Given the description of an element on the screen output the (x, y) to click on. 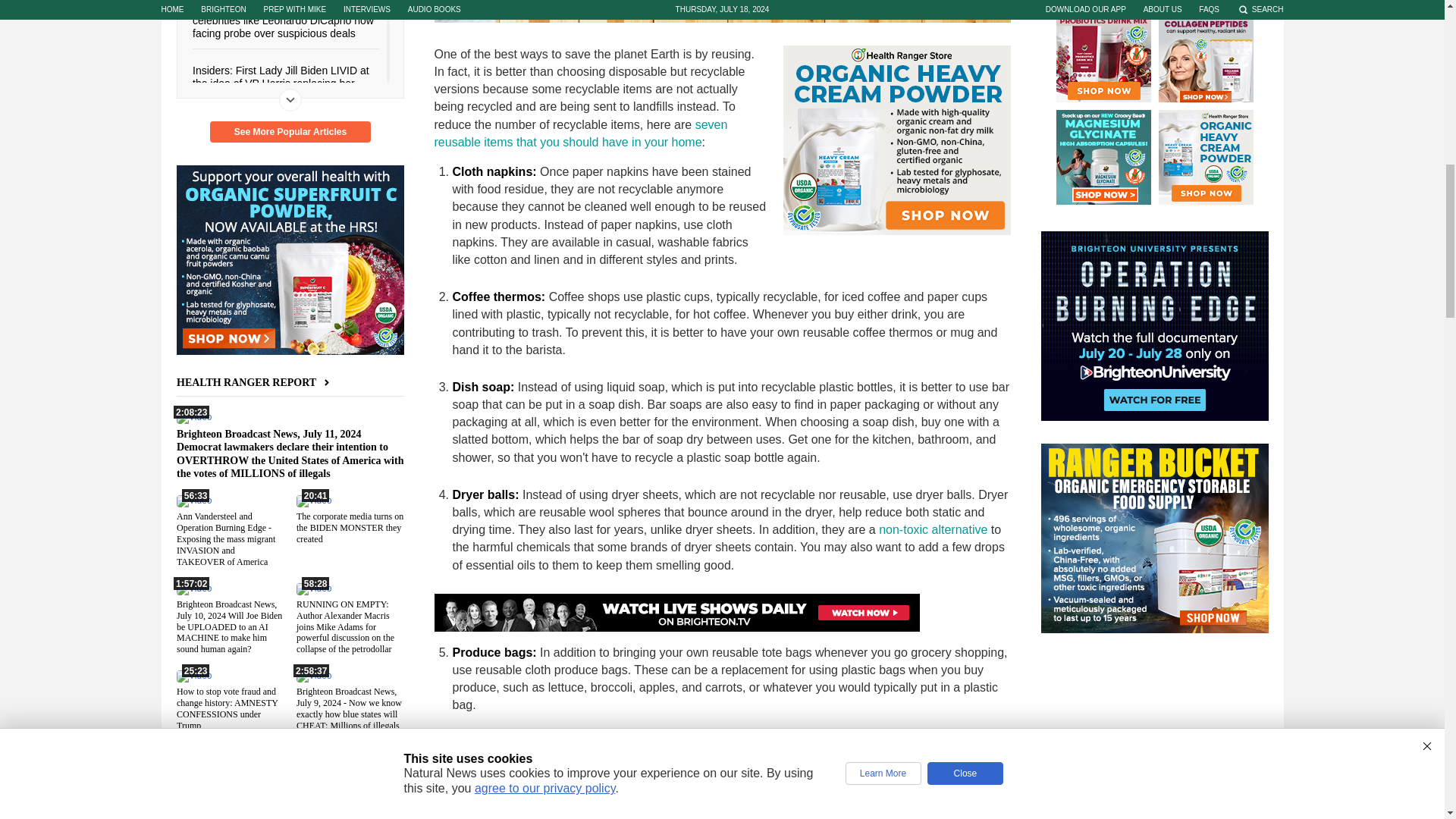
Scroll Down (290, 99)
